Given the description of an element on the screen output the (x, y) to click on. 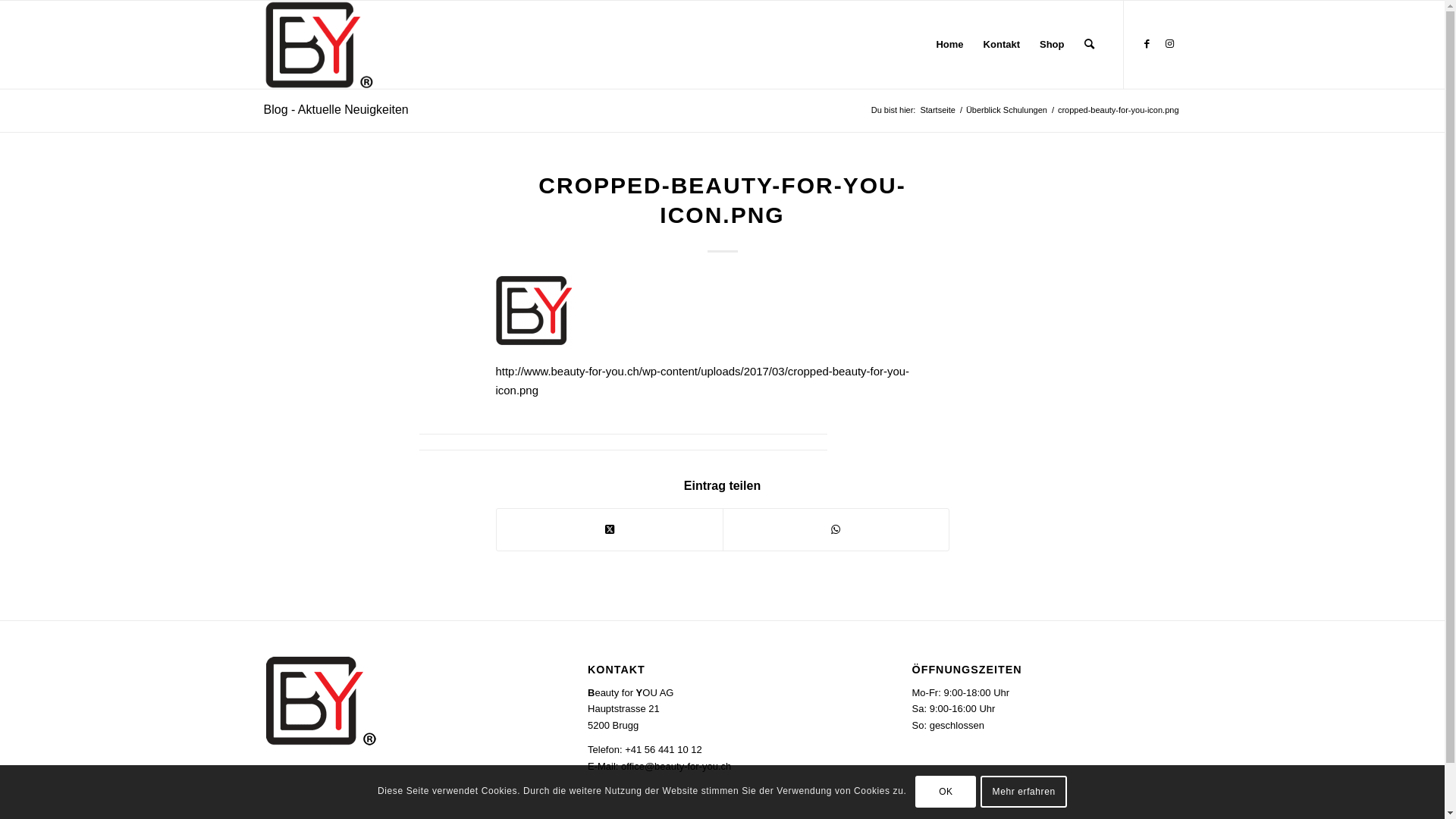
OK Element type: text (945, 791)
Home Element type: text (948, 44)
Shop Element type: text (1051, 44)
Startseite Element type: text (937, 110)
Mehr erfahren Element type: text (1023, 791)
Instagram Element type: hover (1169, 43)
Kontakt Element type: text (1001, 44)
Beauty-for-YOU Element type: hover (318, 44)
Facebook Element type: hover (1146, 43)
office@beauty-for-you.ch Element type: text (676, 765)
Blog - Aktuelle Neuigkeiten Element type: text (335, 109)
